Given the description of an element on the screen output the (x, y) to click on. 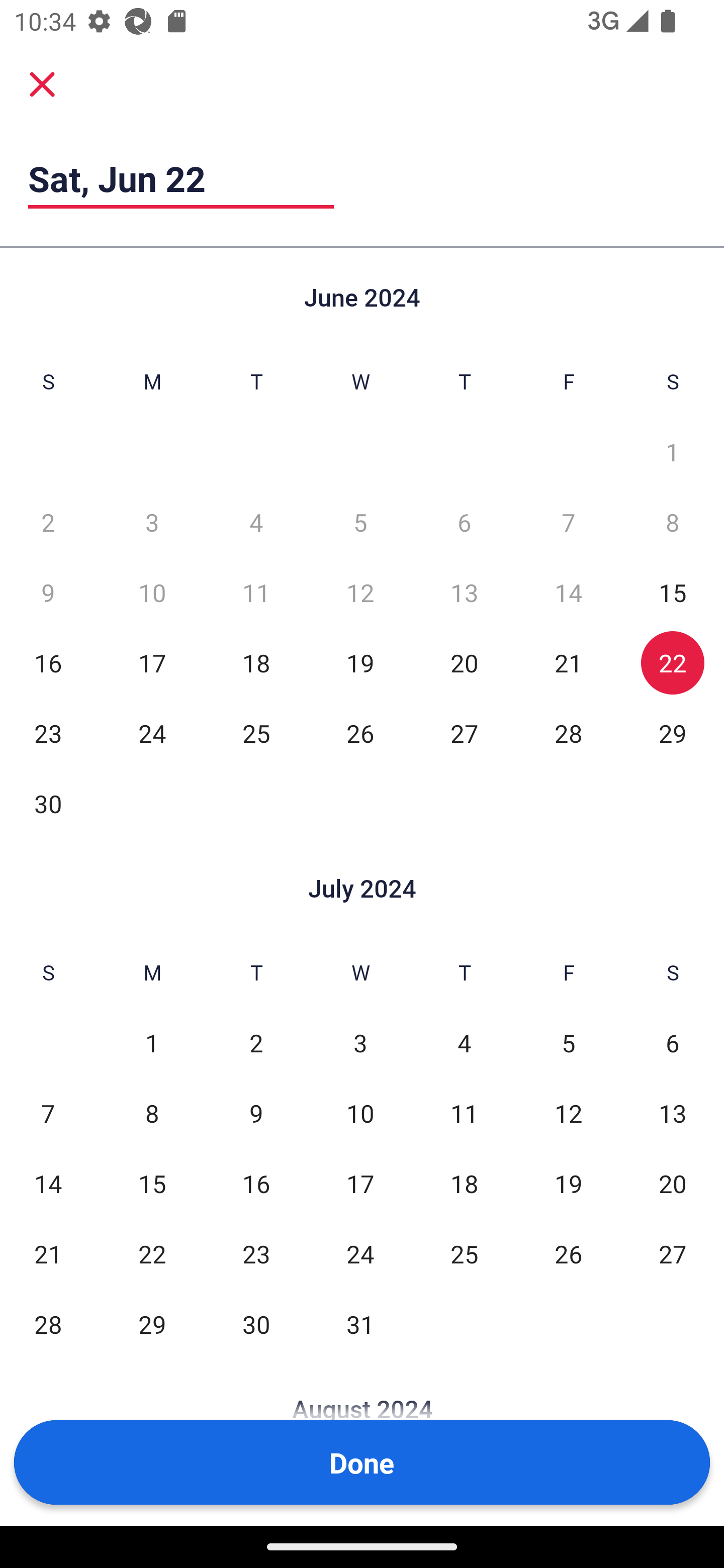
Cancel (41, 83)
Sat, Jun 22 (180, 178)
1 Sat, Jun 1, Not Selected (672, 452)
2 Sun, Jun 2, Not Selected (48, 521)
3 Mon, Jun 3, Not Selected (152, 521)
4 Tue, Jun 4, Not Selected (256, 521)
5 Wed, Jun 5, Not Selected (360, 521)
6 Thu, Jun 6, Not Selected (464, 521)
7 Fri, Jun 7, Not Selected (568, 521)
8 Sat, Jun 8, Not Selected (672, 521)
9 Sun, Jun 9, Not Selected (48, 591)
10 Mon, Jun 10, Not Selected (152, 591)
11 Tue, Jun 11, Not Selected (256, 591)
12 Wed, Jun 12, Not Selected (360, 591)
13 Thu, Jun 13, Not Selected (464, 591)
14 Fri, Jun 14, Not Selected (568, 591)
15 Sat, Jun 15, Not Selected (672, 591)
16 Sun, Jun 16, Not Selected (48, 662)
17 Mon, Jun 17, Not Selected (152, 662)
18 Tue, Jun 18, Not Selected (256, 662)
19 Wed, Jun 19, Not Selected (360, 662)
20 Thu, Jun 20, Not Selected (464, 662)
21 Fri, Jun 21, Not Selected (568, 662)
22 Sat, Jun 22, Selected (672, 662)
23 Sun, Jun 23, Not Selected (48, 732)
24 Mon, Jun 24, Not Selected (152, 732)
25 Tue, Jun 25, Not Selected (256, 732)
26 Wed, Jun 26, Not Selected (360, 732)
27 Thu, Jun 27, Not Selected (464, 732)
28 Fri, Jun 28, Not Selected (568, 732)
29 Sat, Jun 29, Not Selected (672, 732)
30 Sun, Jun 30, Not Selected (48, 803)
1 Mon, Jul 1, Not Selected (152, 1043)
2 Tue, Jul 2, Not Selected (256, 1043)
3 Wed, Jul 3, Not Selected (360, 1043)
4 Thu, Jul 4, Not Selected (464, 1043)
5 Fri, Jul 5, Not Selected (568, 1043)
6 Sat, Jul 6, Not Selected (672, 1043)
7 Sun, Jul 7, Not Selected (48, 1112)
8 Mon, Jul 8, Not Selected (152, 1112)
9 Tue, Jul 9, Not Selected (256, 1112)
10 Wed, Jul 10, Not Selected (360, 1112)
11 Thu, Jul 11, Not Selected (464, 1112)
12 Fri, Jul 12, Not Selected (568, 1112)
13 Sat, Jul 13, Not Selected (672, 1112)
14 Sun, Jul 14, Not Selected (48, 1182)
15 Mon, Jul 15, Not Selected (152, 1182)
16 Tue, Jul 16, Not Selected (256, 1182)
17 Wed, Jul 17, Not Selected (360, 1182)
18 Thu, Jul 18, Not Selected (464, 1182)
19 Fri, Jul 19, Not Selected (568, 1182)
20 Sat, Jul 20, Not Selected (672, 1182)
21 Sun, Jul 21, Not Selected (48, 1253)
22 Mon, Jul 22, Not Selected (152, 1253)
23 Tue, Jul 23, Not Selected (256, 1253)
24 Wed, Jul 24, Not Selected (360, 1253)
25 Thu, Jul 25, Not Selected (464, 1253)
26 Fri, Jul 26, Not Selected (568, 1253)
27 Sat, Jul 27, Not Selected (672, 1253)
28 Sun, Jul 28, Not Selected (48, 1323)
29 Mon, Jul 29, Not Selected (152, 1323)
30 Tue, Jul 30, Not Selected (256, 1323)
31 Wed, Jul 31, Not Selected (360, 1323)
Done Button Done (361, 1462)
